Given the description of an element on the screen output the (x, y) to click on. 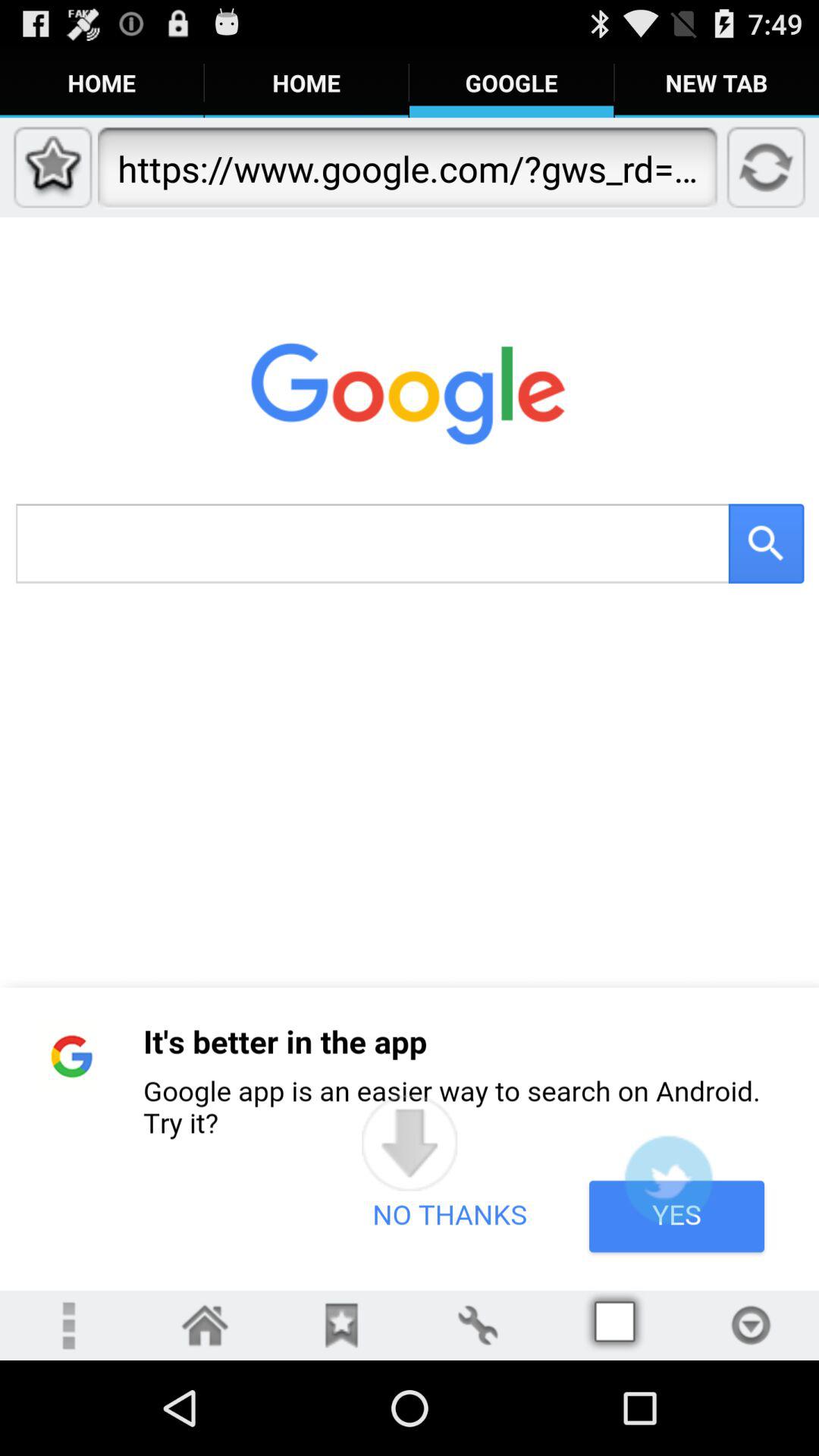
star icon (341, 1325)
